Given the description of an element on the screen output the (x, y) to click on. 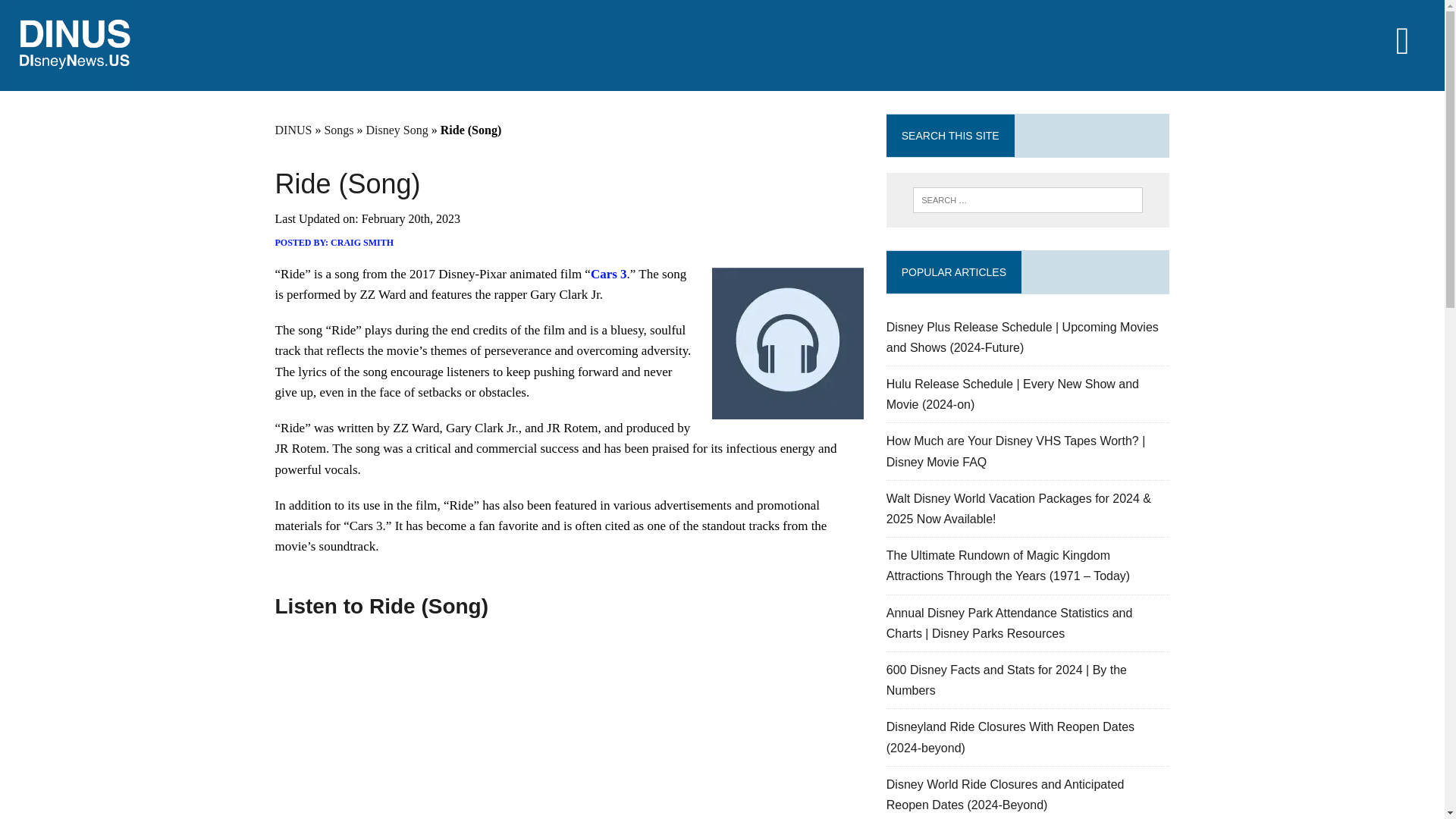
Search (75, 14)
Cars 3 (609, 273)
Ride disney song music (787, 343)
DINUS (293, 129)
Disney Song (397, 129)
CRAIG SMITH (361, 242)
Songs (338, 129)
